Given the description of an element on the screen output the (x, y) to click on. 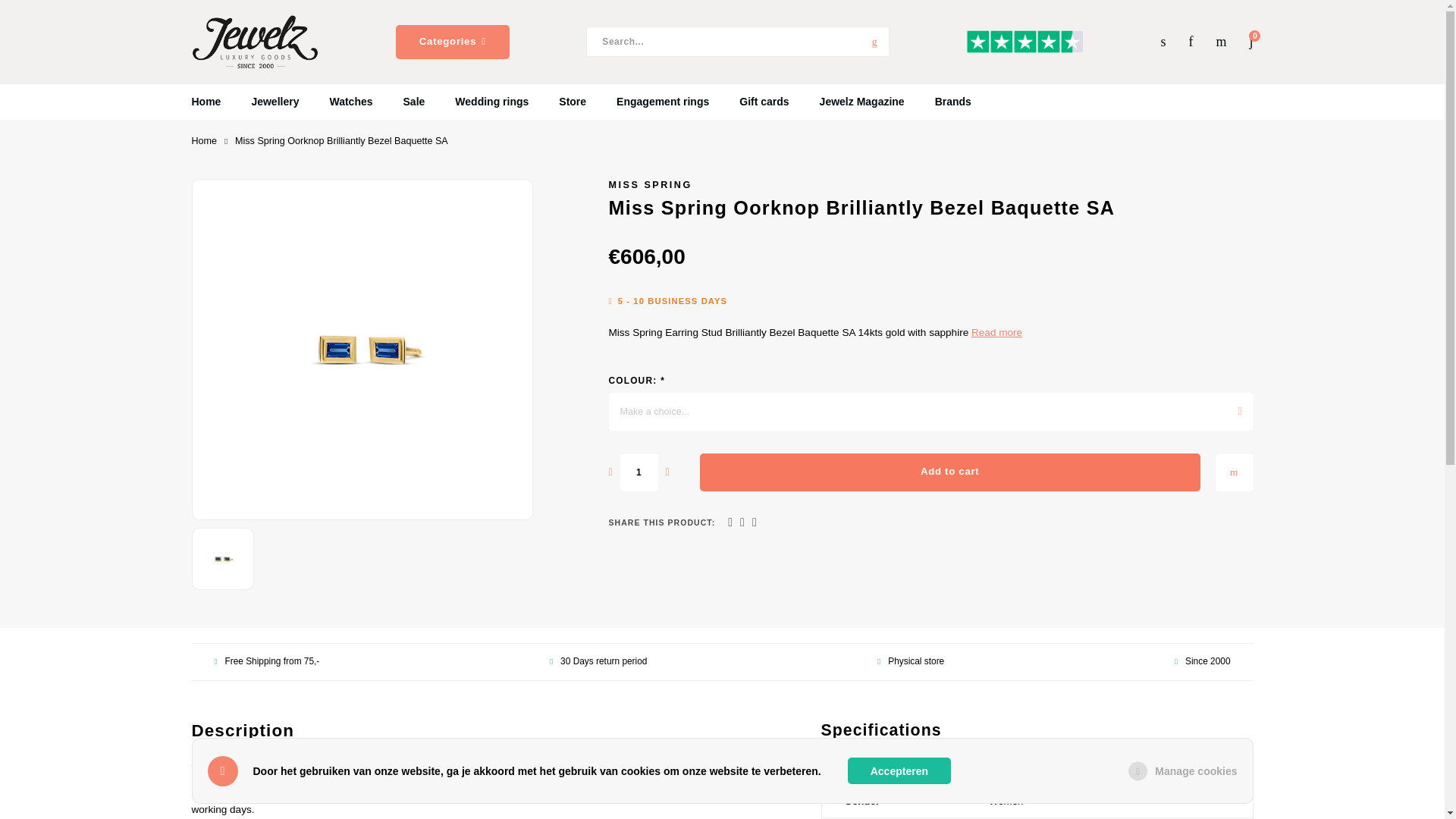
Custom (1024, 41)
Akkoord (898, 770)
1 (639, 472)
Search (874, 41)
Gift cards (763, 101)
Add to wishlist (1233, 472)
Home (203, 141)
Add to cart (949, 472)
